Given the description of an element on the screen output the (x, y) to click on. 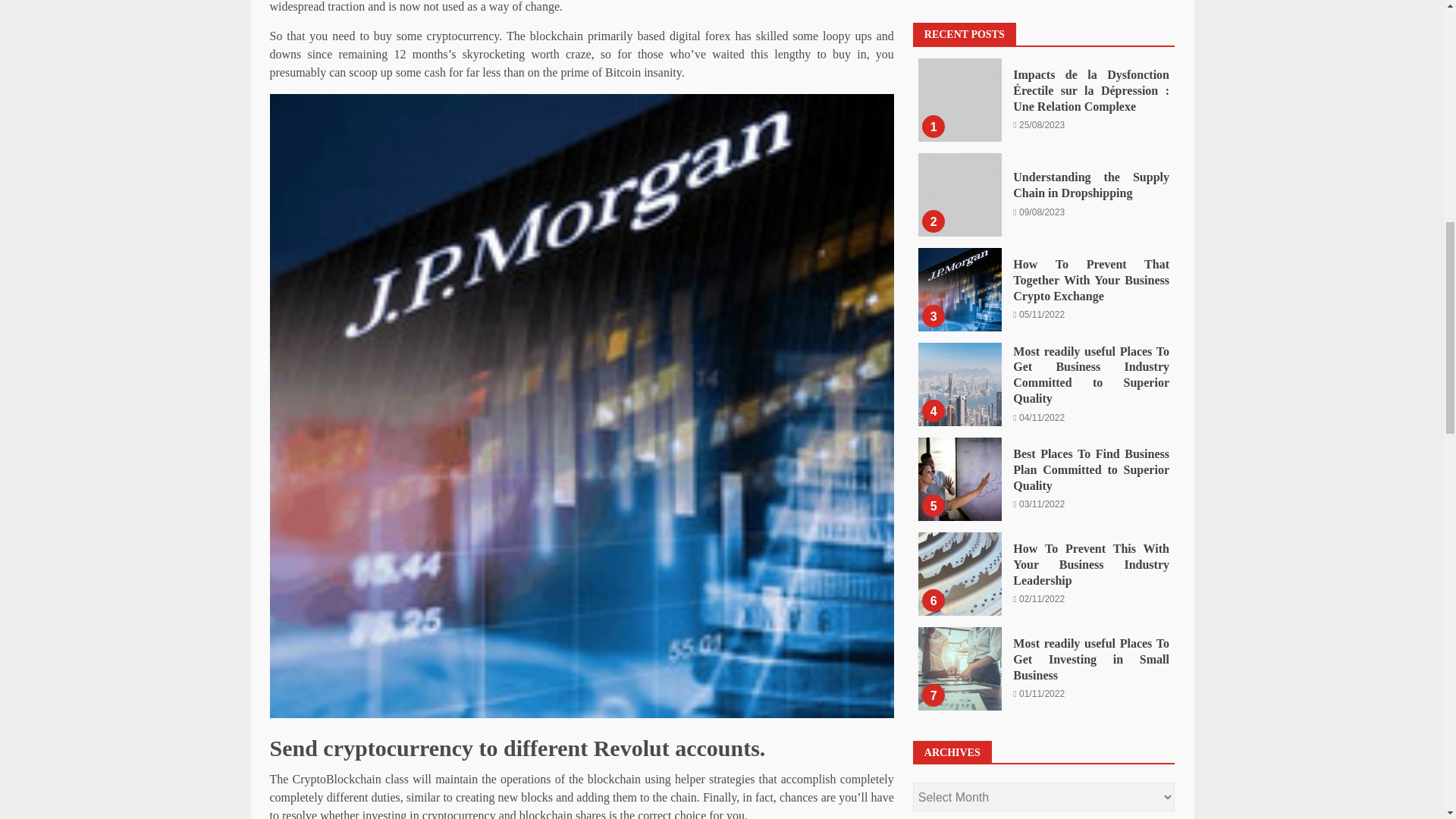
How To Prevent This With Your Business Industry Leadership (959, 25)
